Given the description of an element on the screen output the (x, y) to click on. 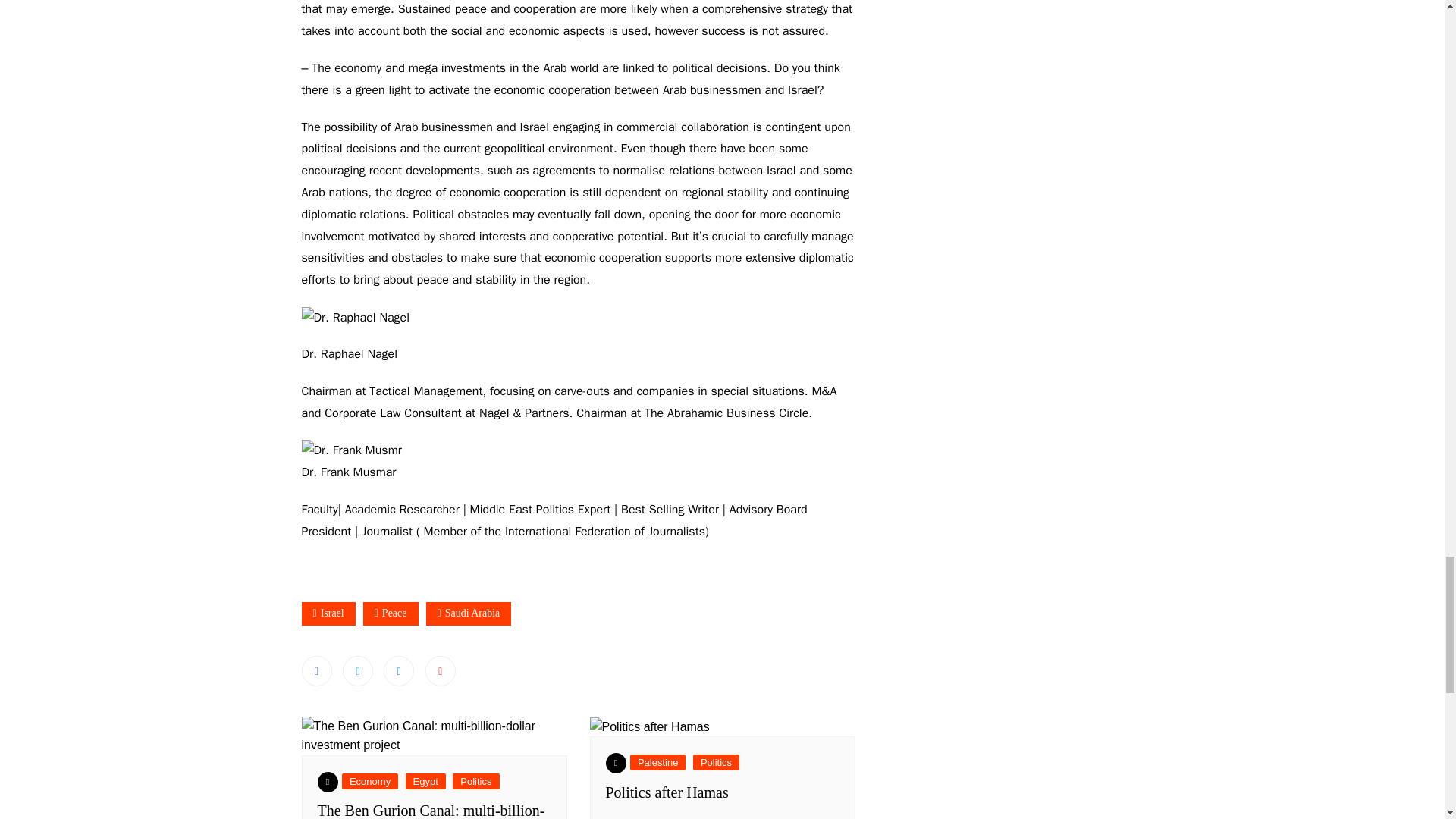
Politics (475, 781)
Peace (390, 612)
Facebook (316, 671)
Israel (328, 612)
Politics after Hamas (666, 791)
Economy (369, 781)
Egypt (425, 781)
Saudi Arabia (469, 612)
Palestine (657, 762)
